Given the description of an element on the screen output the (x, y) to click on. 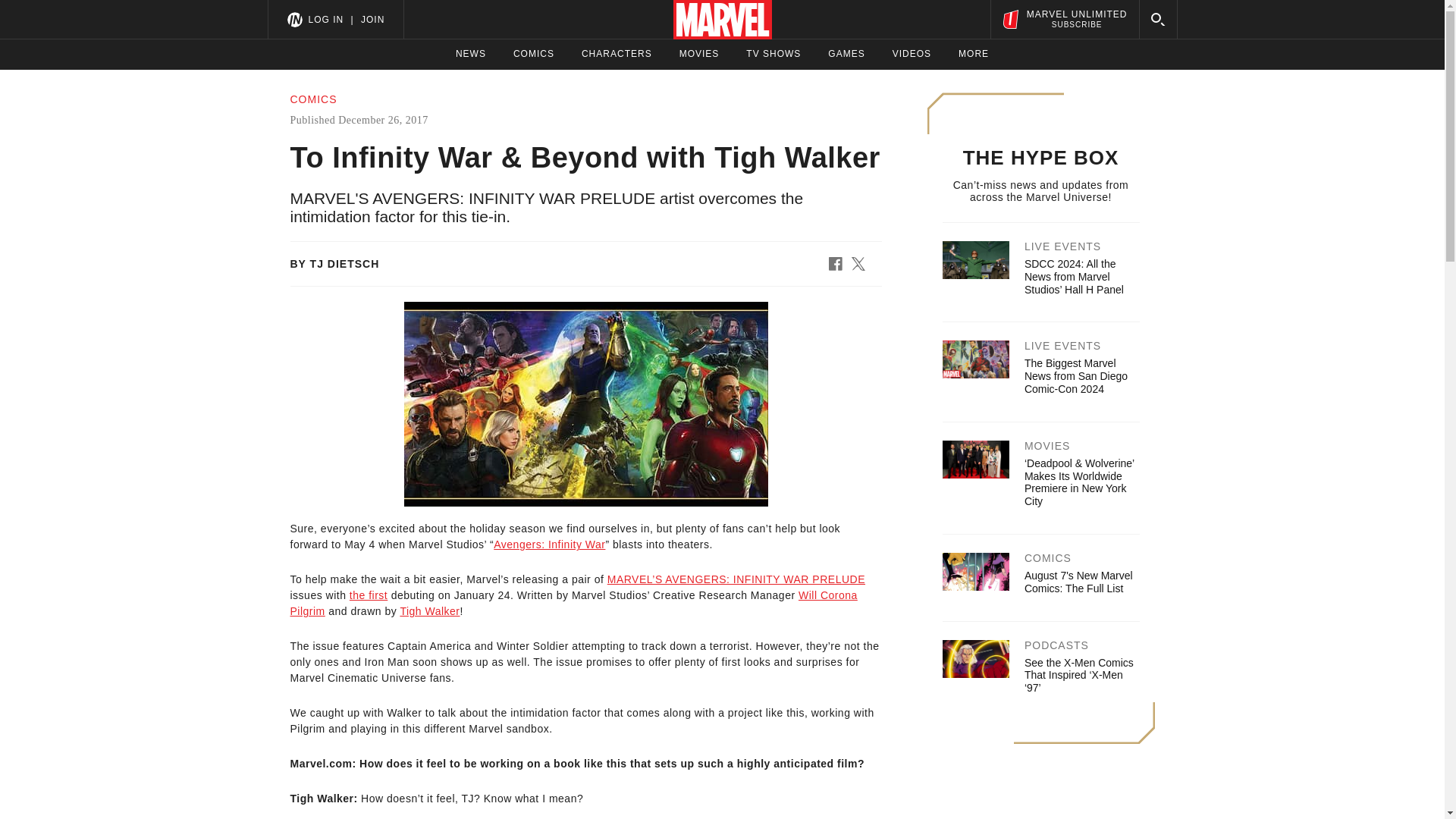
The Biggest Marvel News from San Diego Comic-Con 2024 (1075, 375)
TV SHOWS (772, 54)
COMICS (533, 54)
GAMES (846, 54)
Avengers: Infinity War (549, 544)
CHARACTERS (616, 54)
Will Corona Pilgrim (573, 602)
JOIN (372, 18)
VIDEOS (911, 54)
Tigh Walker (429, 611)
